Given the description of an element on the screen output the (x, y) to click on. 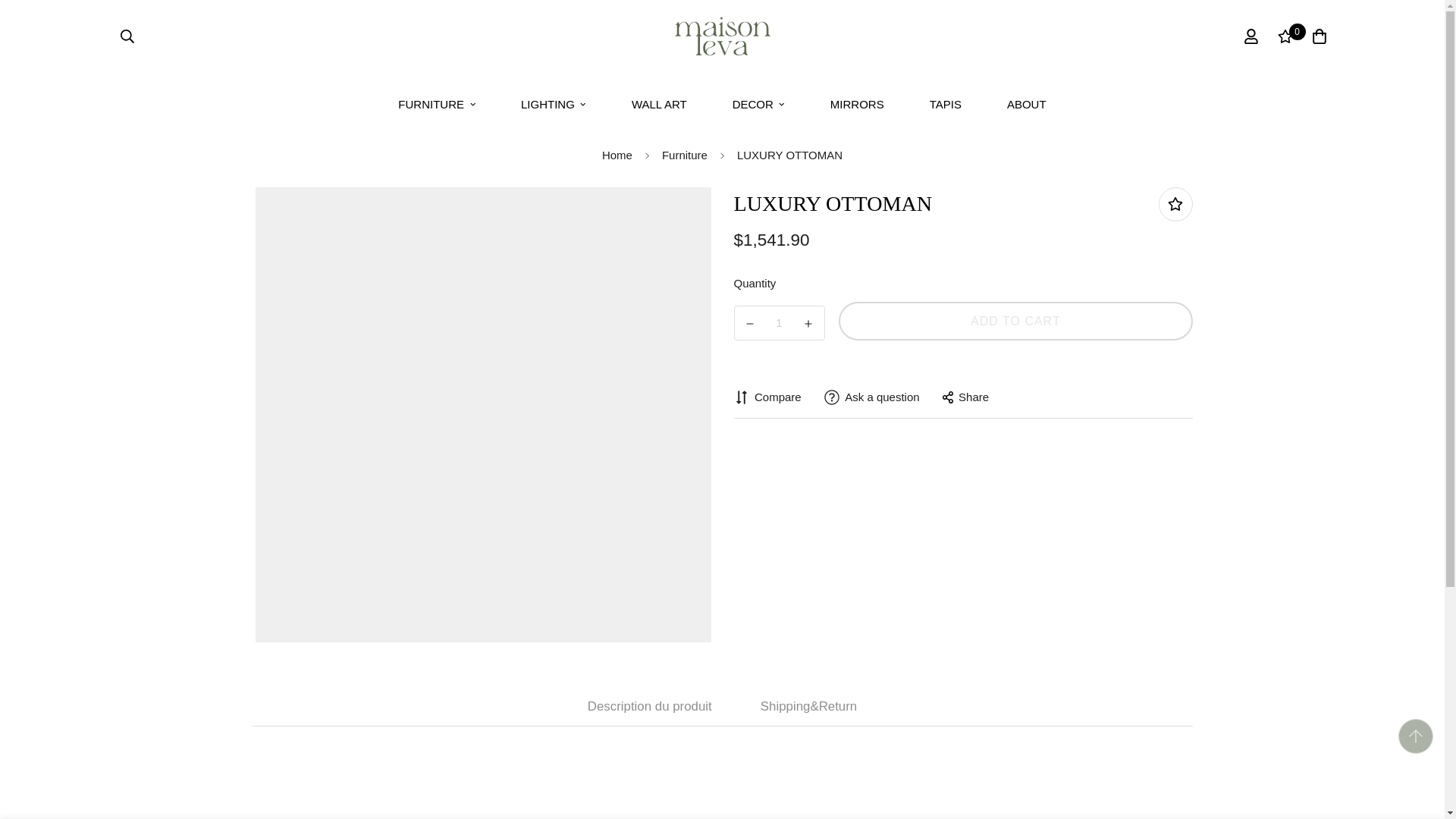
Maison Leva (722, 36)
Back to the home page (617, 154)
LIGHTING (552, 103)
WALL ART (659, 103)
DECOR (759, 103)
FURNITURE (722, 103)
